Given the description of an element on the screen output the (x, y) to click on. 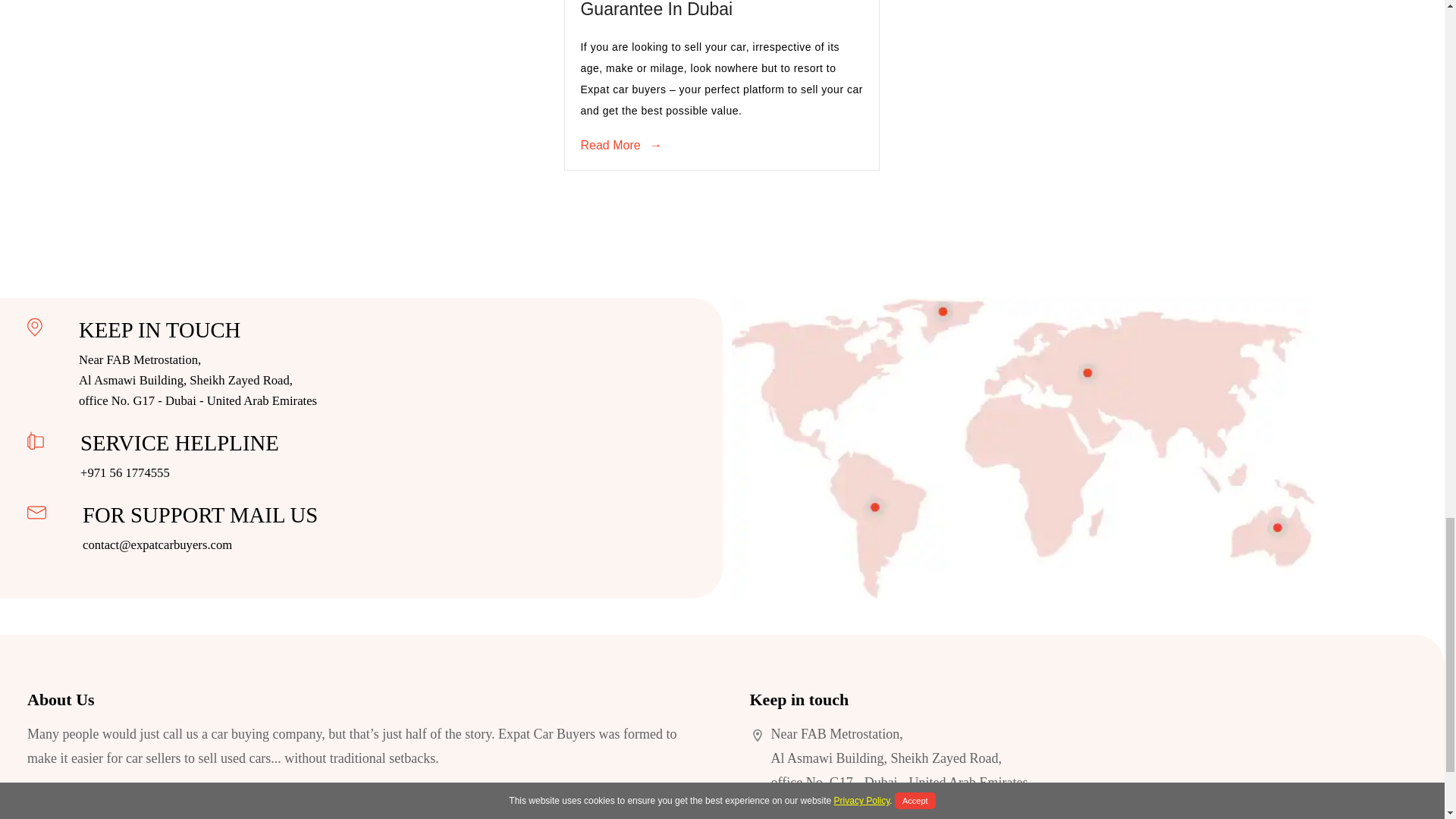
9 distractions to avoid when driving in the UAE (681, 9)
